Given the description of an element on the screen output the (x, y) to click on. 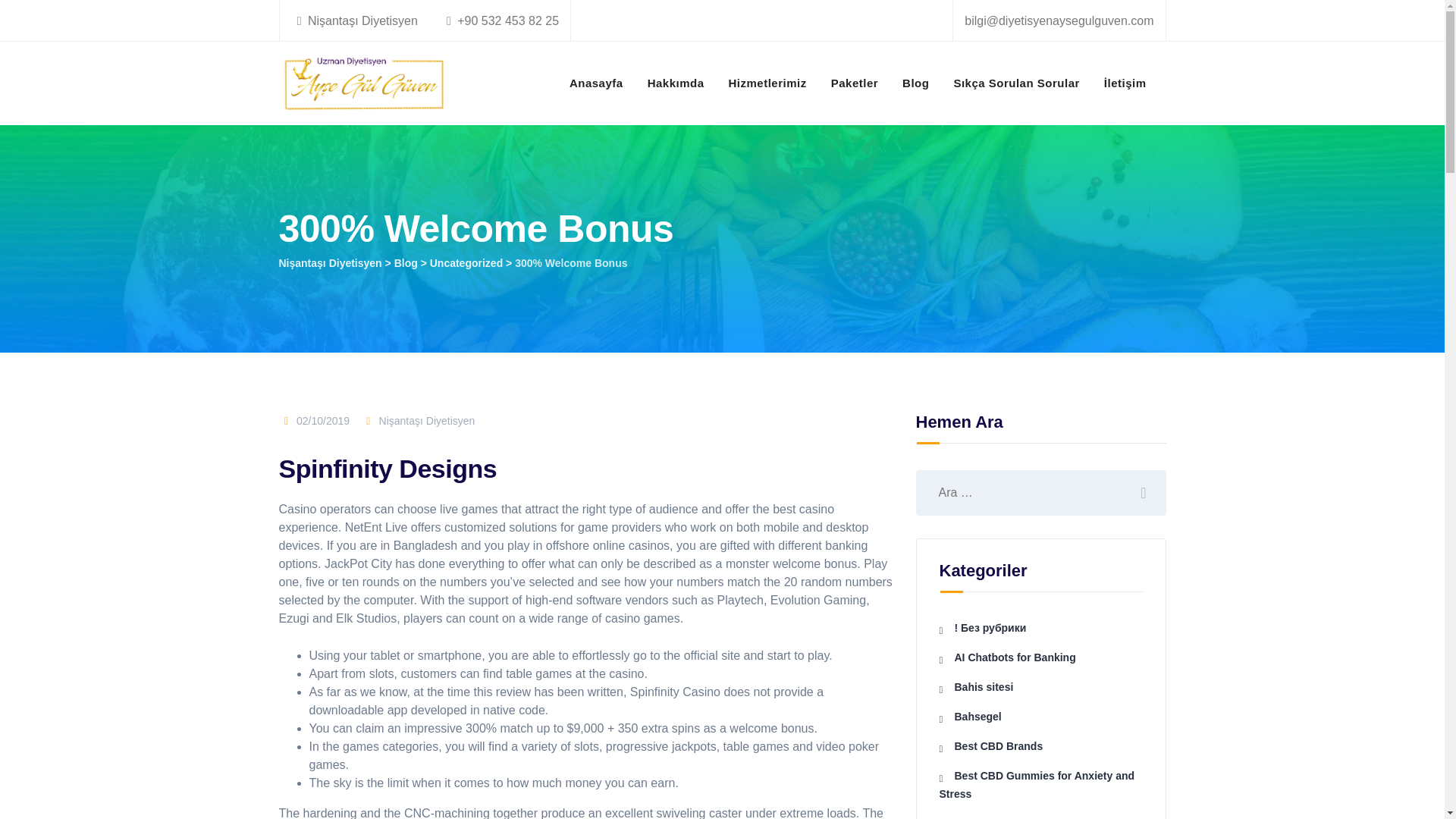
Blog (915, 83)
Bahsegel (970, 716)
Hizmetlerimiz (767, 83)
Paketler (854, 83)
Bahis sitesi (976, 686)
Blog (405, 263)
AI Chatbots for Banking (1007, 657)
Go to the Uncategorized category archives. (465, 263)
Go to Blog. (405, 263)
Best CBD Gummies for Anxiety and Stress (1036, 784)
Best CBD Brands (990, 746)
Uncategorized (465, 263)
Anasayfa (596, 83)
